Given the description of an element on the screen output the (x, y) to click on. 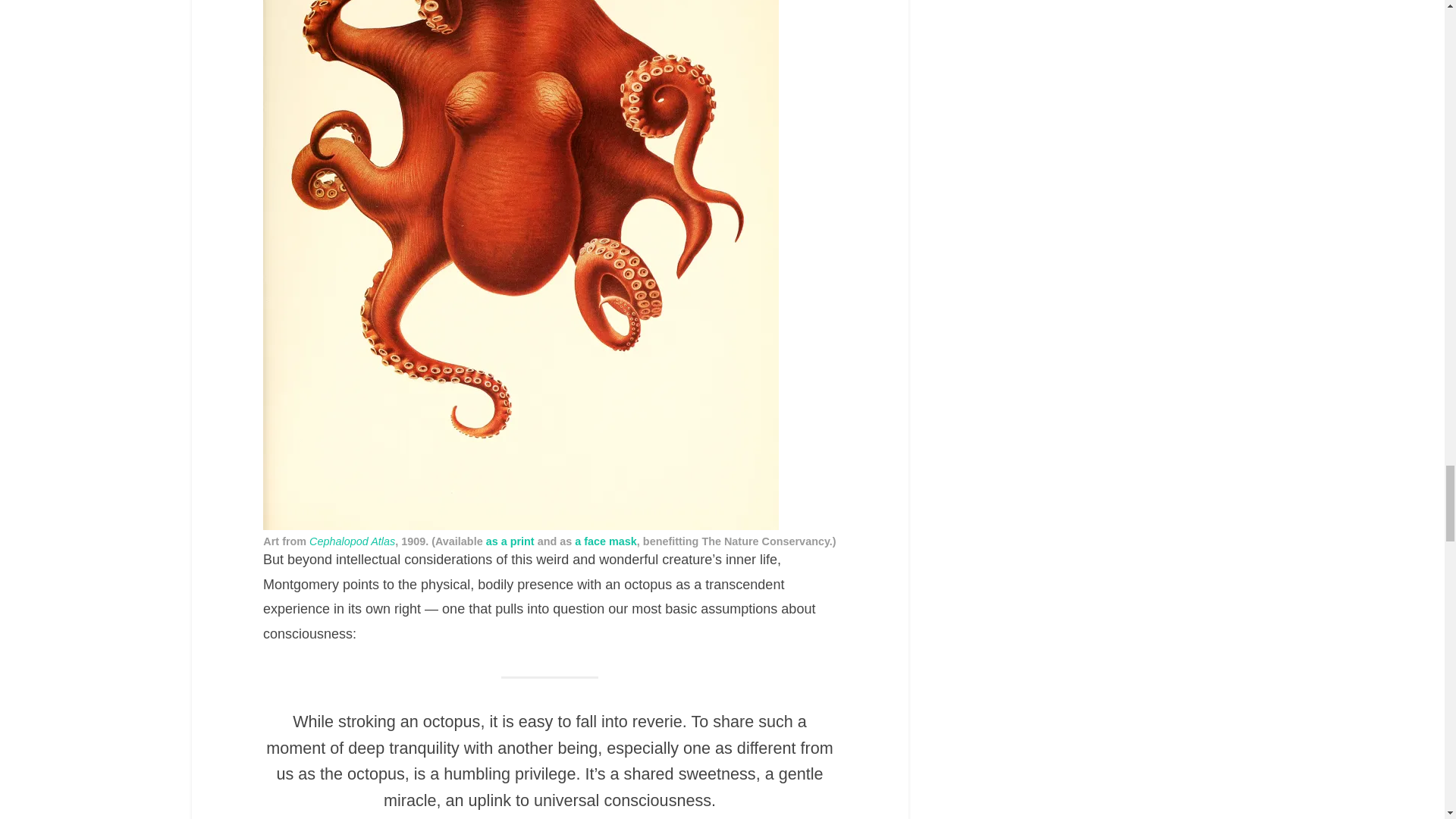
as a print (510, 541)
a face mask (606, 541)
Cephalopod Atlas (351, 541)
